Given the description of an element on the screen output the (x, y) to click on. 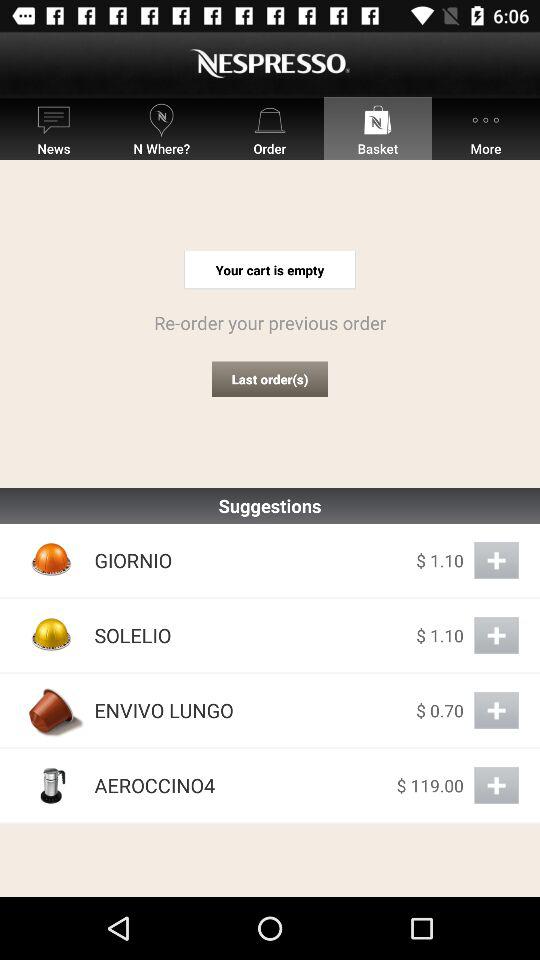
toggle add option (496, 560)
